Given the description of an element on the screen output the (x, y) to click on. 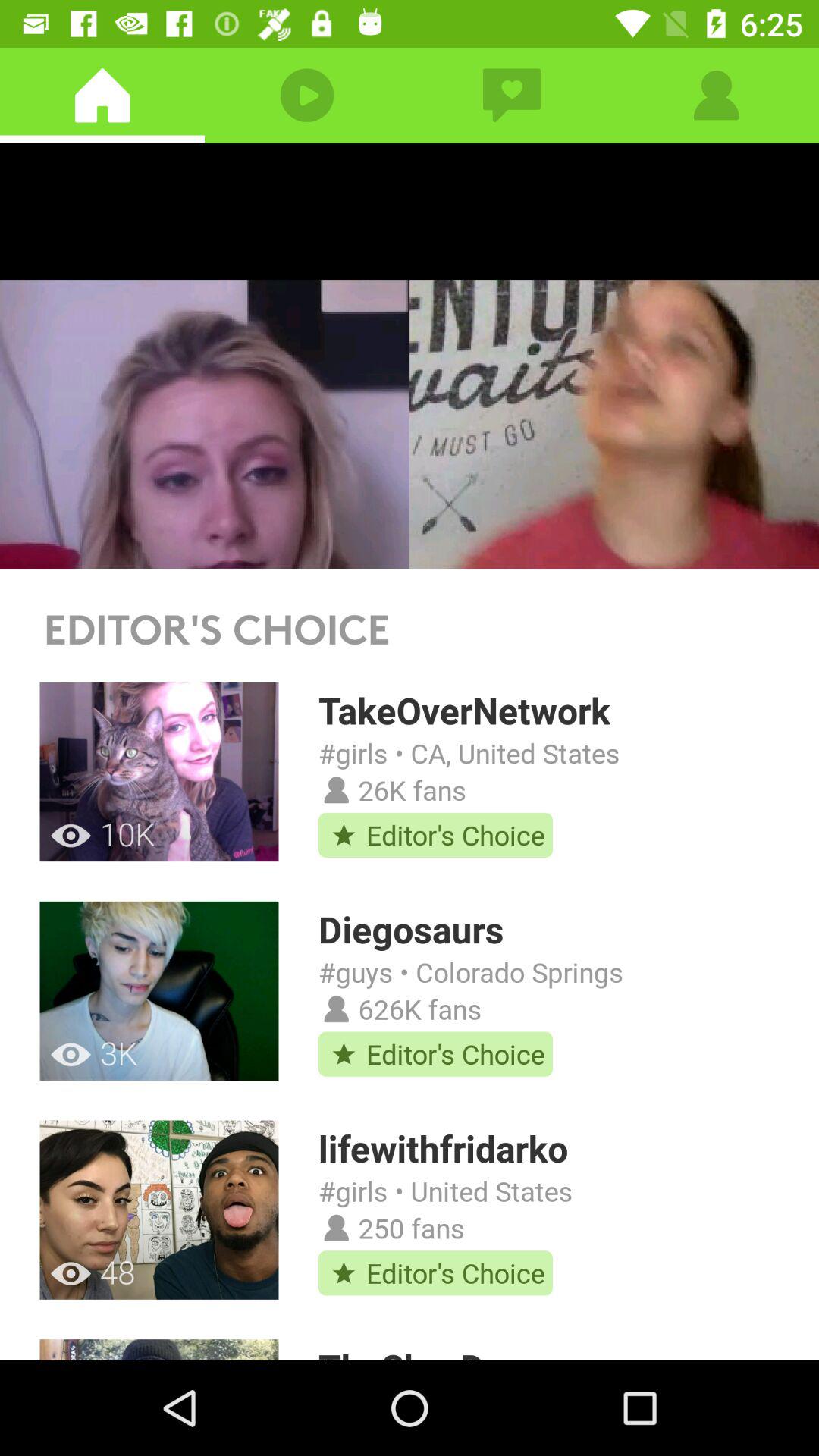
play video (409, 355)
